Given the description of an element on the screen output the (x, y) to click on. 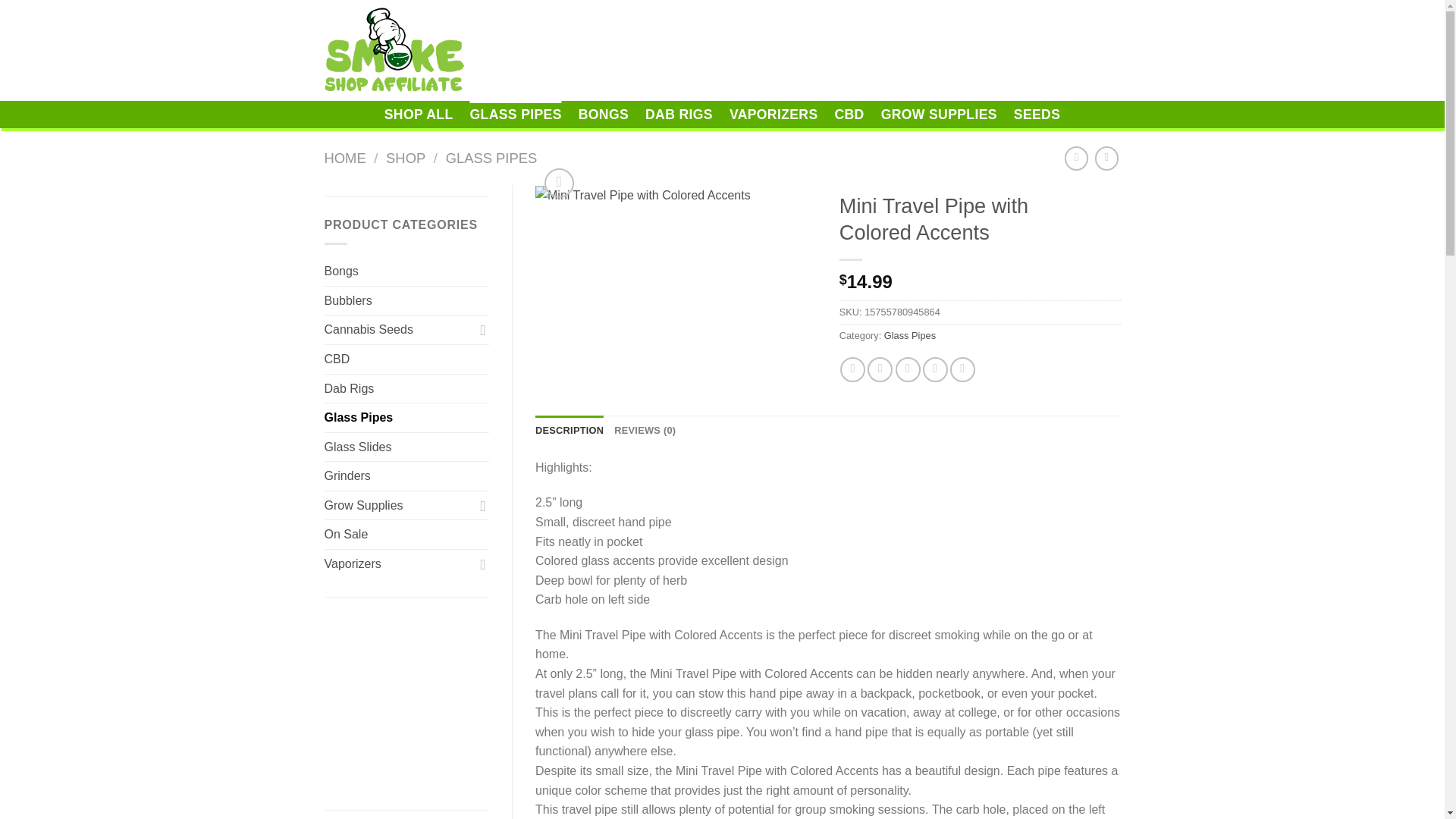
Mini Travel Pipe with Colored Accents (675, 195)
Search (876, 50)
CBD (848, 113)
SEEDS (1036, 113)
HOME (345, 157)
SHOP (405, 157)
CBD (406, 358)
Vaporizers (399, 563)
VAPORIZERS (773, 113)
SHOP ALL (418, 113)
